Given the description of an element on the screen output the (x, y) to click on. 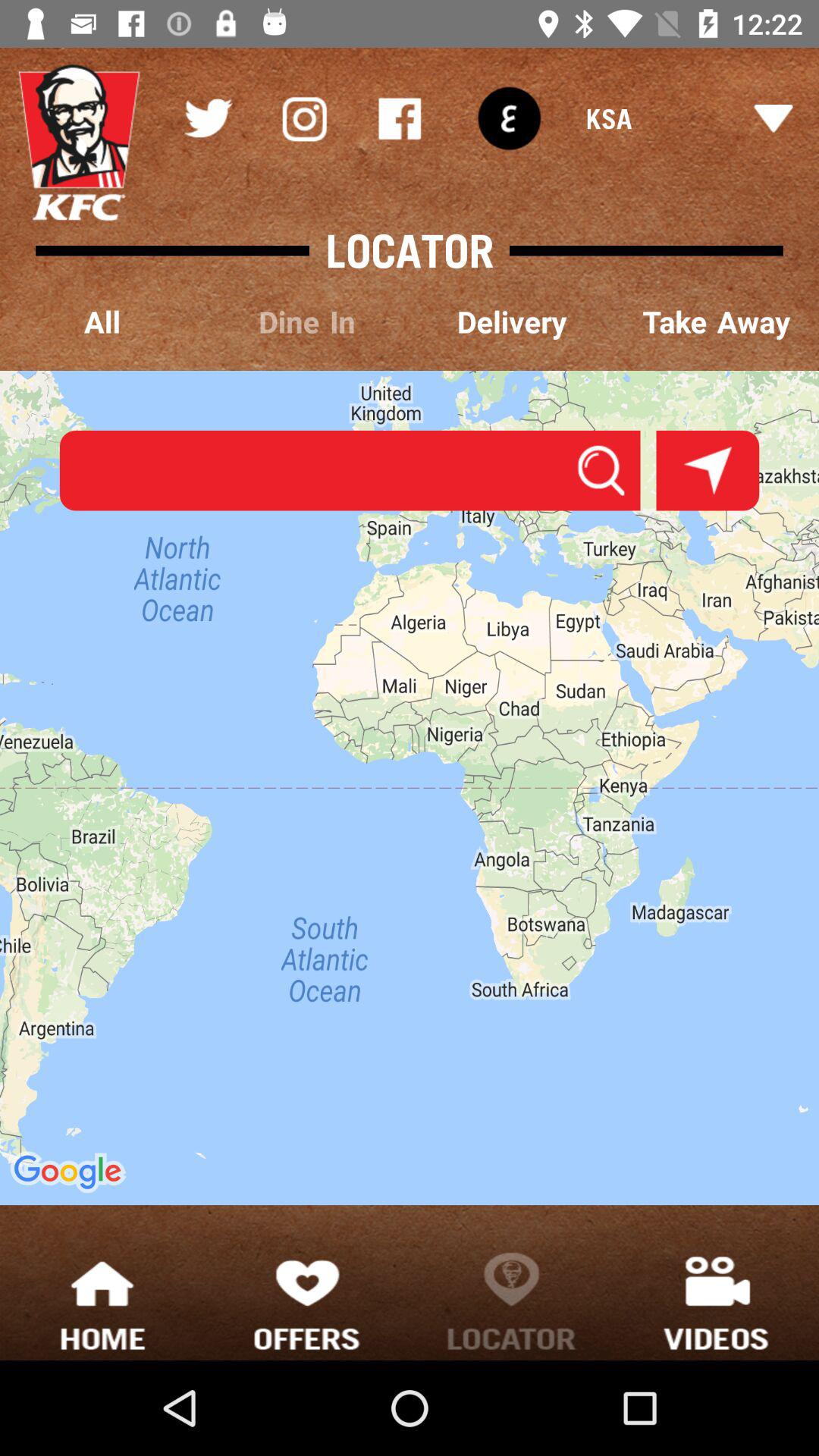
launch the item next to the all item (306, 322)
